Given the description of an element on the screen output the (x, y) to click on. 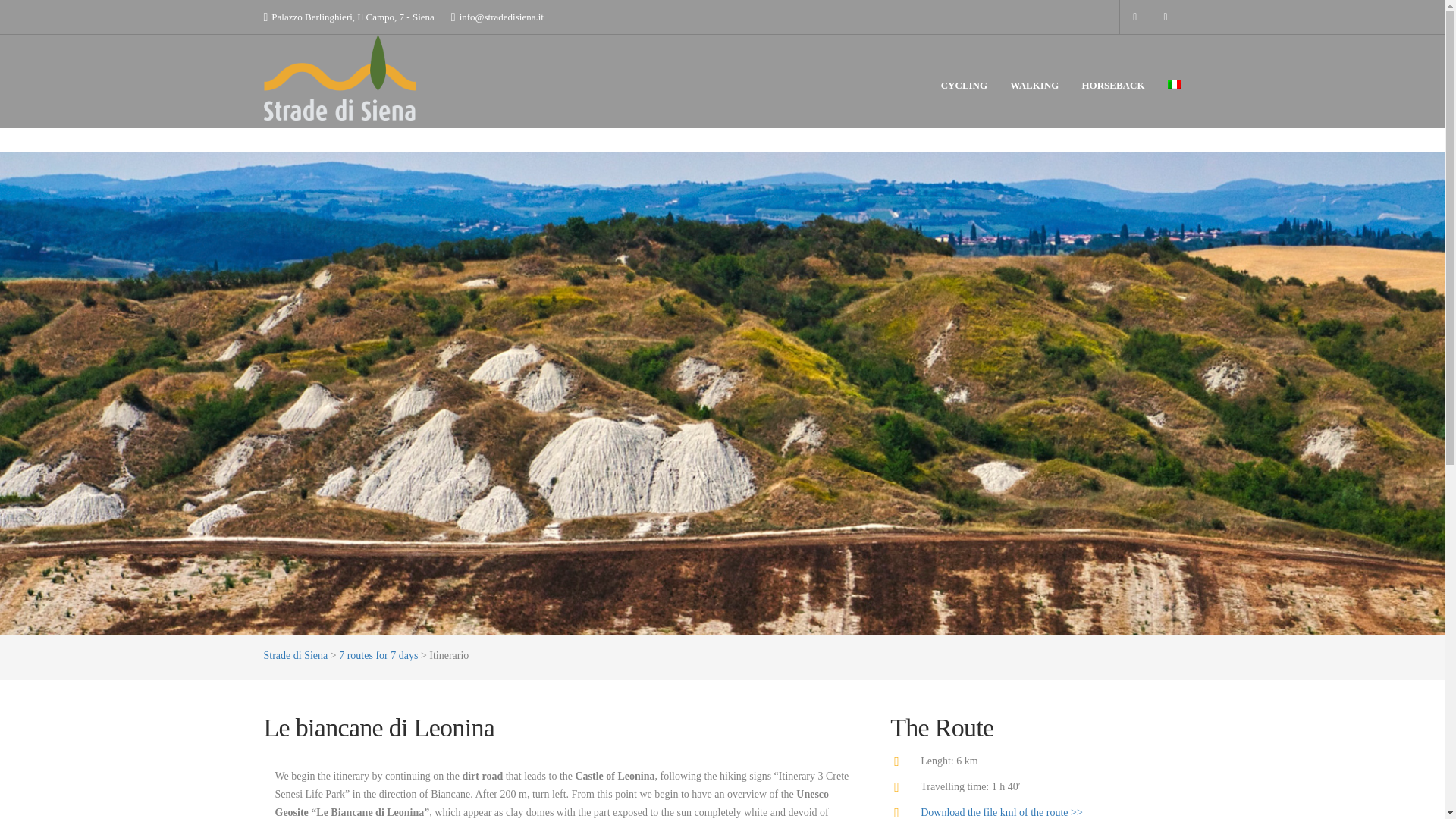
7 routes for 7 days (378, 655)
Strade di Siena (296, 655)
Strade di Siena (296, 655)
7 routes for 7 days (378, 655)
